Given the description of an element on the screen output the (x, y) to click on. 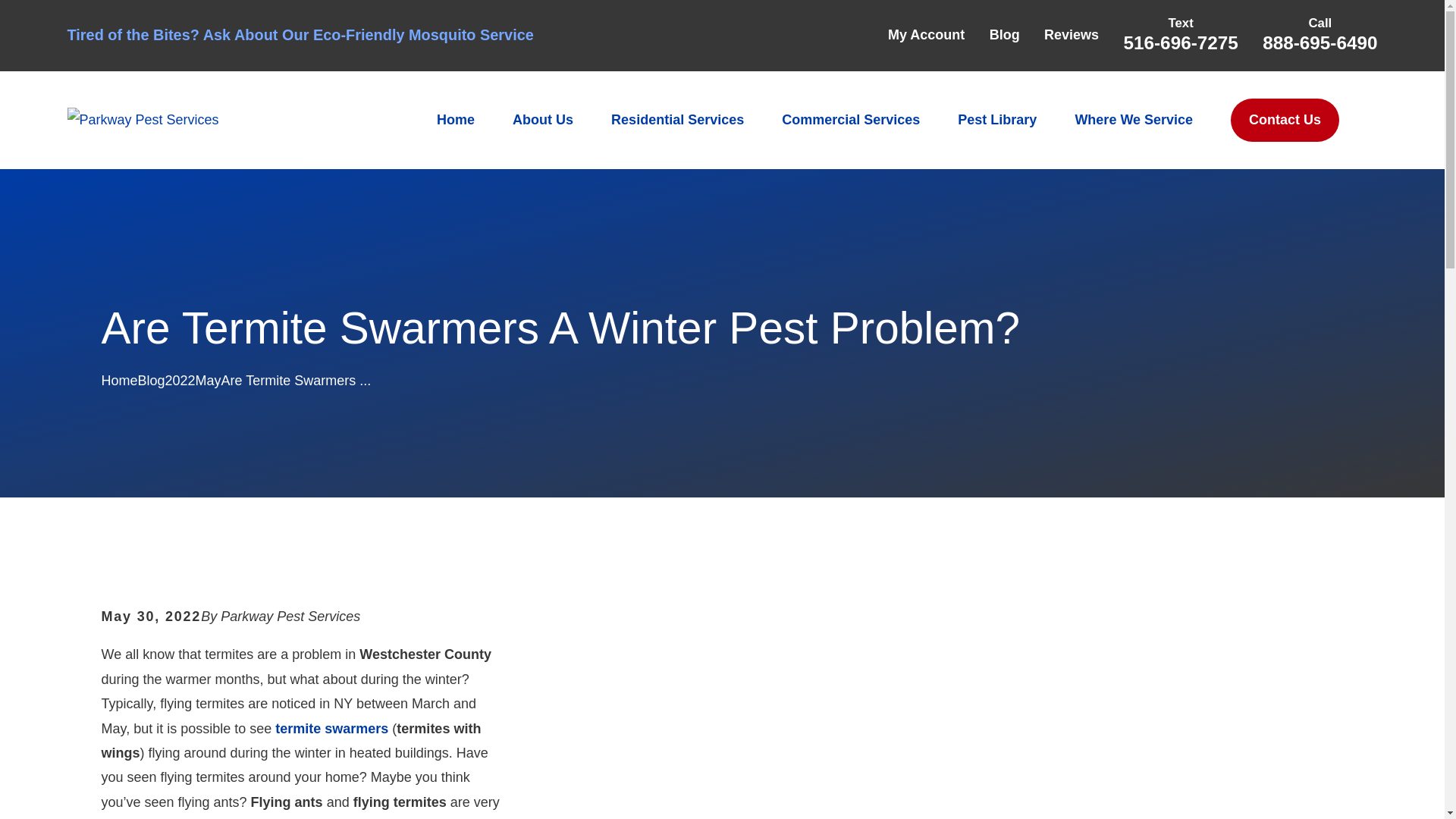
Reviews (1071, 34)
Blog (1005, 34)
Go Home (118, 380)
My Account (925, 34)
Home (142, 119)
888-695-6490 (1319, 42)
About Us (542, 120)
Commercial Services (850, 120)
Residential Services (677, 120)
